Given the description of an element on the screen output the (x, y) to click on. 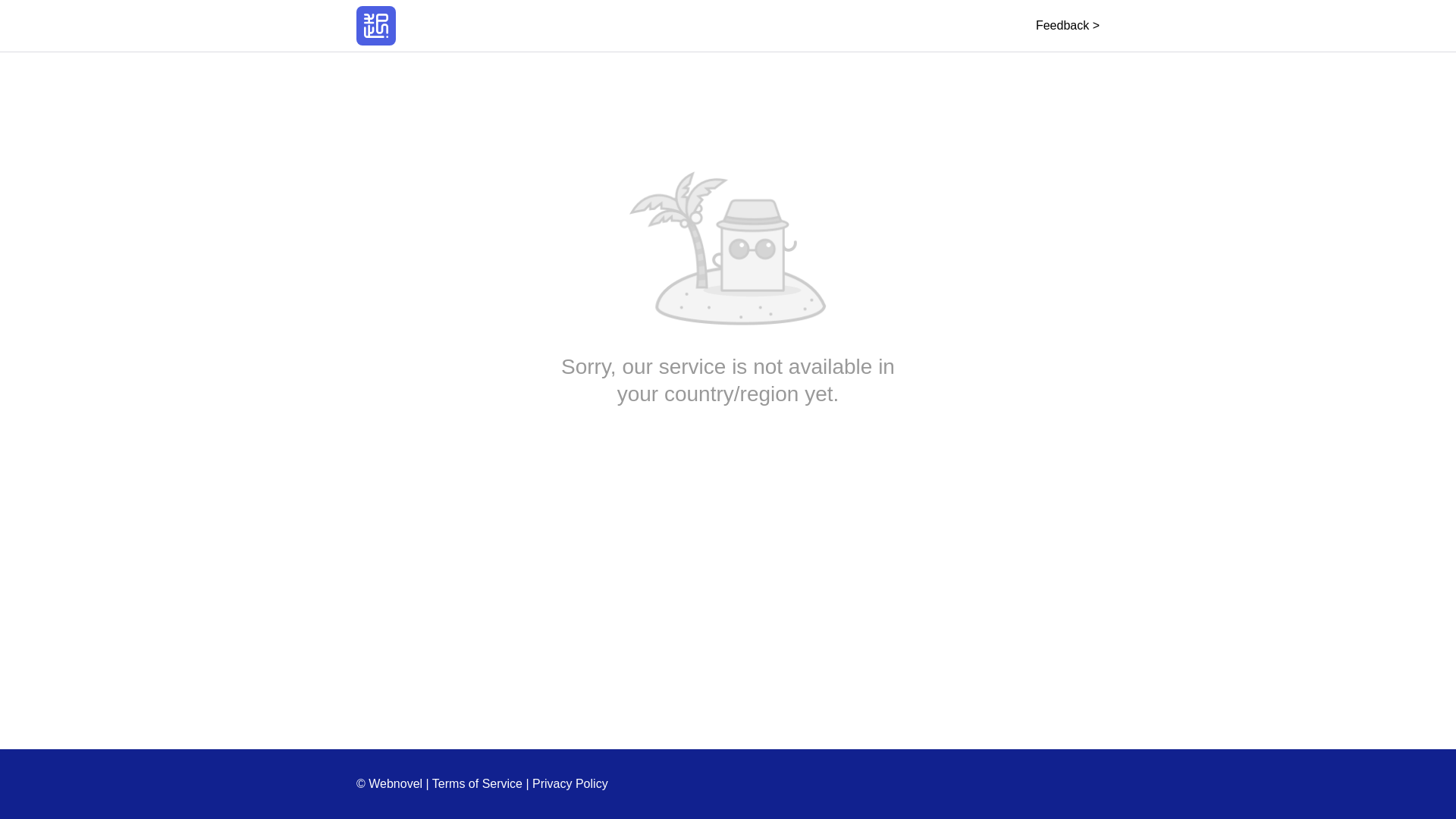
Privacy Policy (570, 783)
Terms of Service (477, 783)
Webnovel (376, 25)
Terms of Service (477, 783)
Webnovel (376, 25)
Feedback (1067, 24)
Privacy Policy (570, 783)
